Given the description of an element on the screen output the (x, y) to click on. 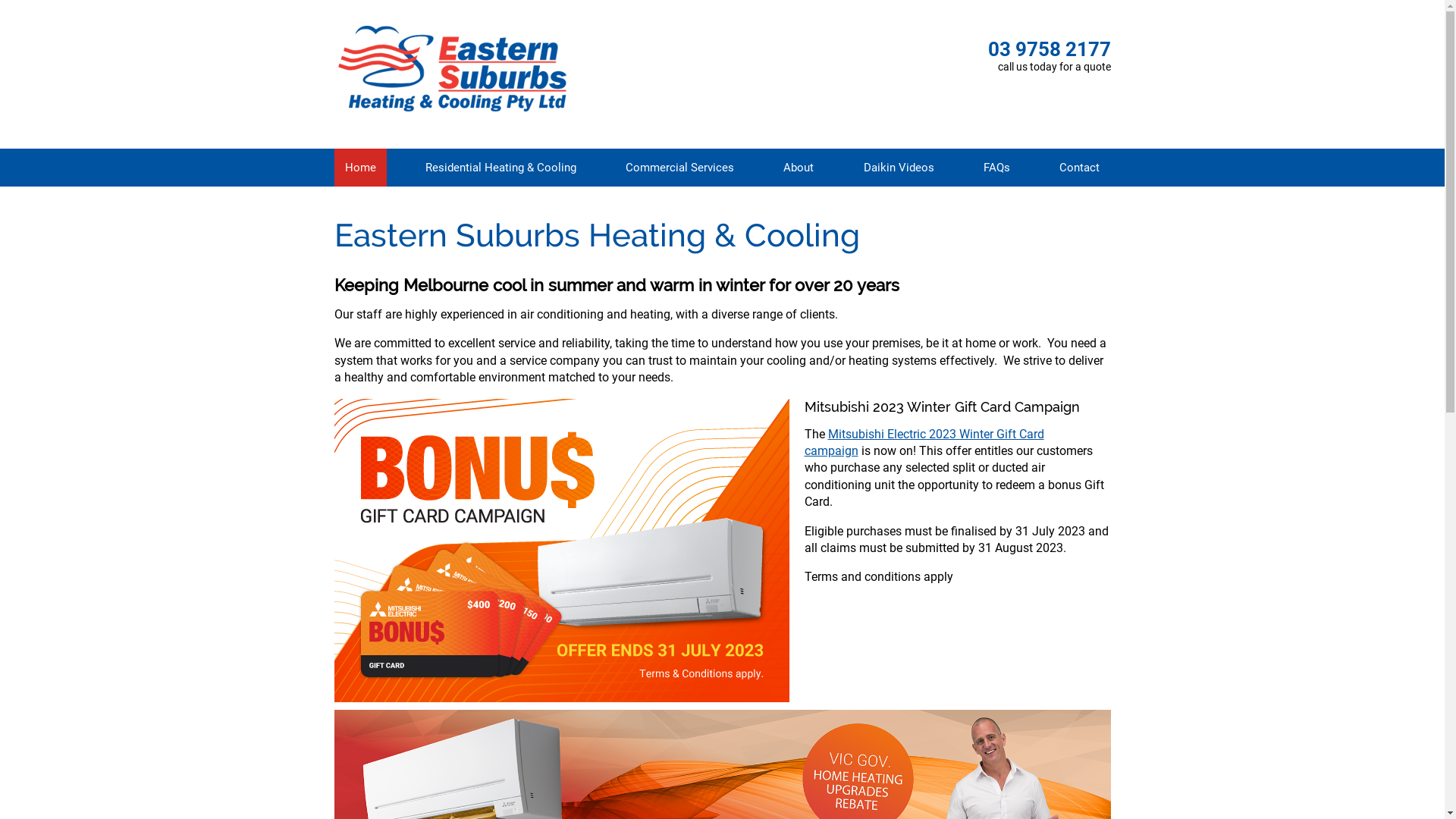
Mitsubishi Electric 2023 Winter Gift Card campaign Element type: text (923, 442)
Residential Heating & Cooling Element type: text (500, 167)
Daikin Videos Element type: text (898, 167)
03 9758 2177 Element type: text (1048, 48)
About Element type: text (798, 167)
FAQs Element type: text (996, 167)
Commercial Services Element type: text (679, 167)
Home Element type: text (359, 167)
Contact Element type: text (1079, 167)
